Given the description of an element on the screen output the (x, y) to click on. 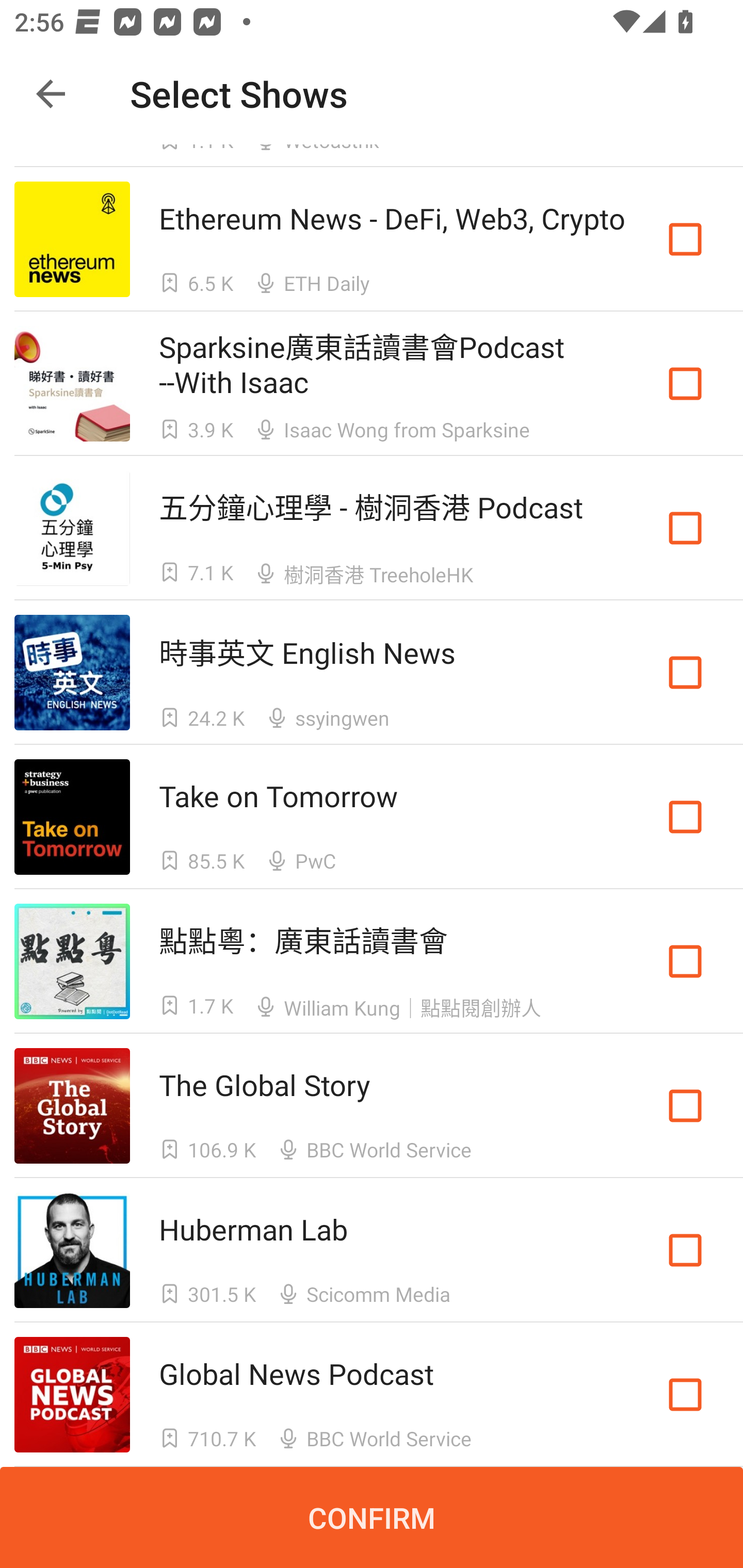
Navigate up (50, 93)
Take on Tomorrow Take on Tomorrow  85.5 K  PwC (371, 816)
CONFIRM (371, 1517)
